Given the description of an element on the screen output the (x, y) to click on. 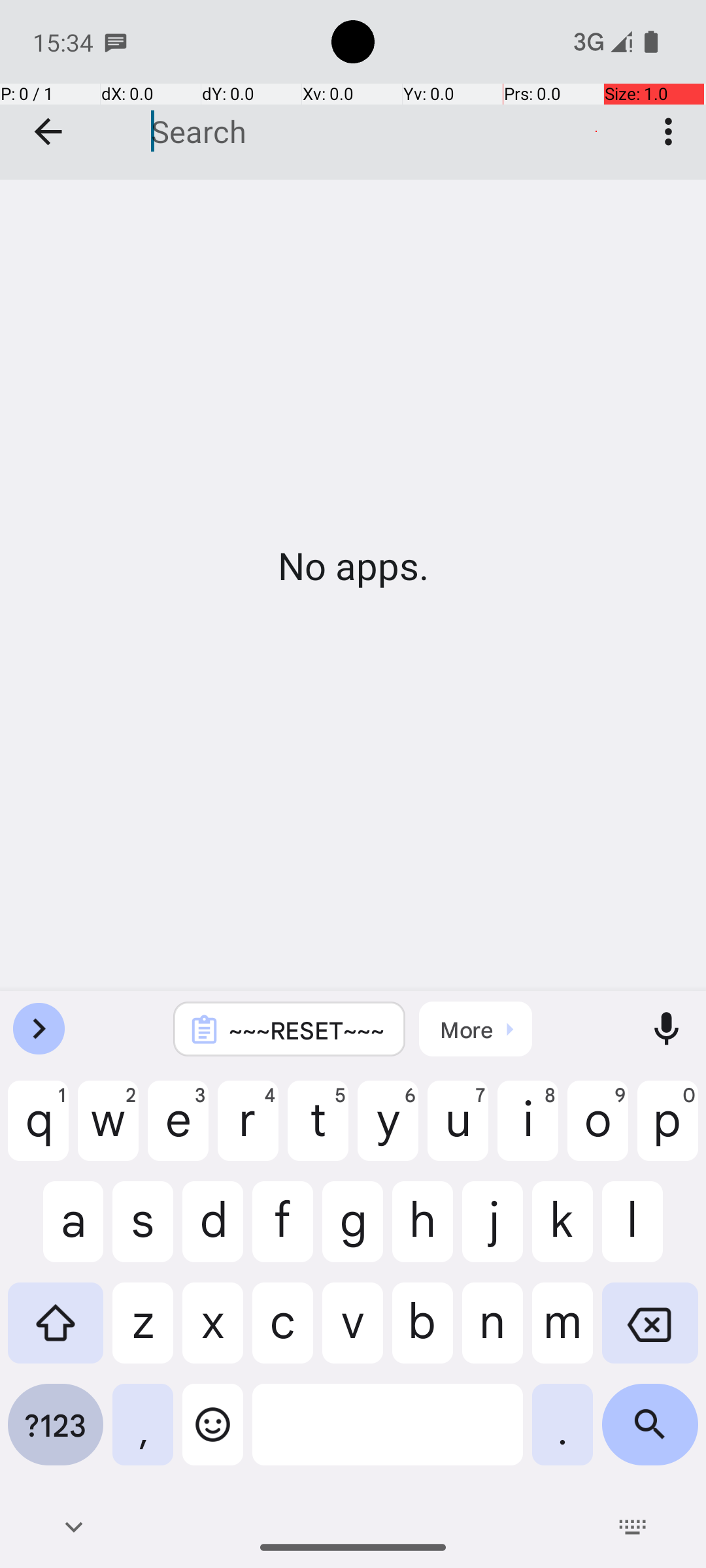
Games Element type: android.widget.FrameLayout (353, 89)
No apps. Element type: android.widget.TextView (353, 565)
Collapse Element type: android.widget.ImageButton (48, 131)
